Given the description of an element on the screen output the (x, y) to click on. 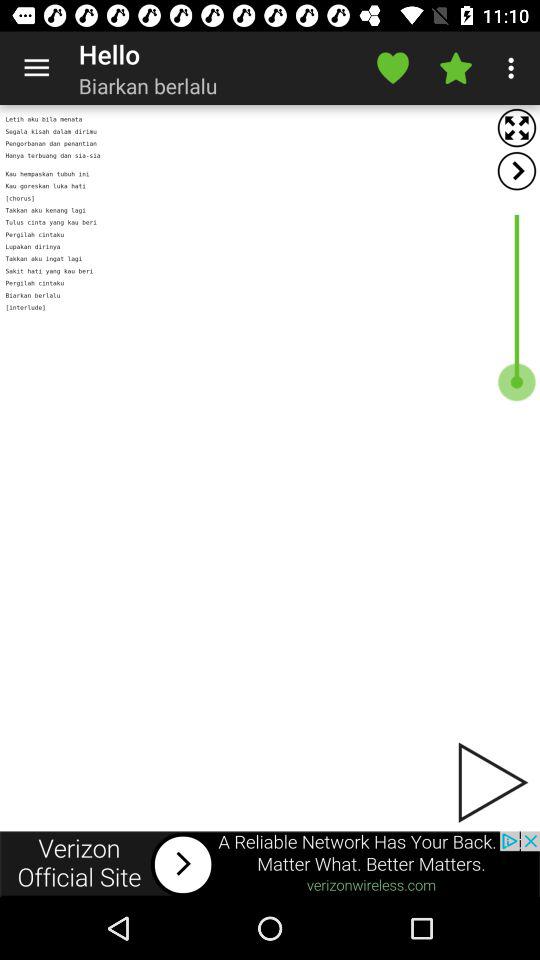
advertise a website (270, 864)
